Given the description of an element on the screen output the (x, y) to click on. 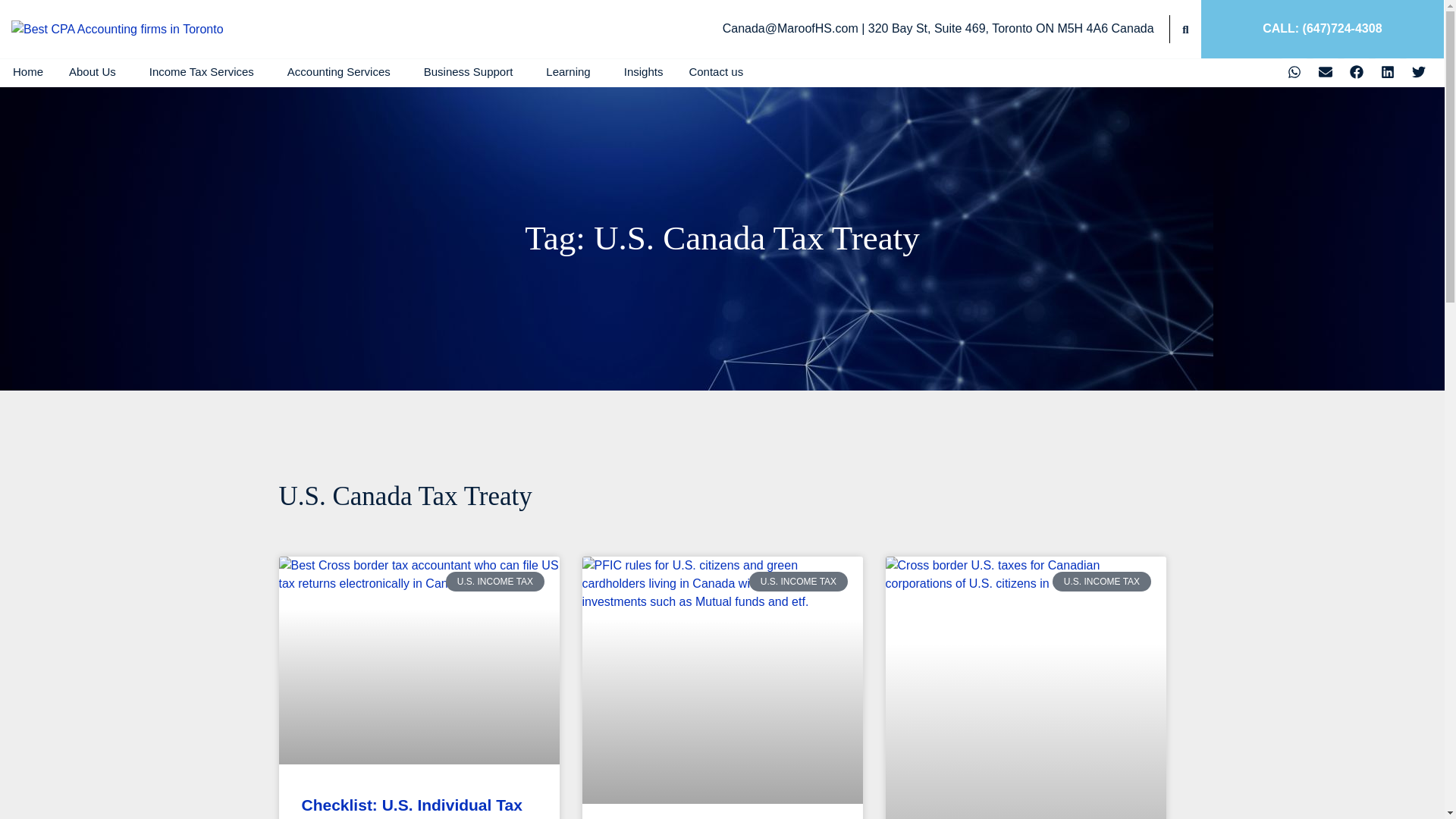
Learning (571, 71)
Contact us (715, 71)
Whatsapp (1294, 71)
Home (28, 71)
Accounting Services (342, 71)
Income Tax Services (205, 71)
Facebook (1356, 71)
Business Support (472, 71)
Linkedin (1387, 71)
Twitter (1418, 71)
